Given the description of an element on the screen output the (x, y) to click on. 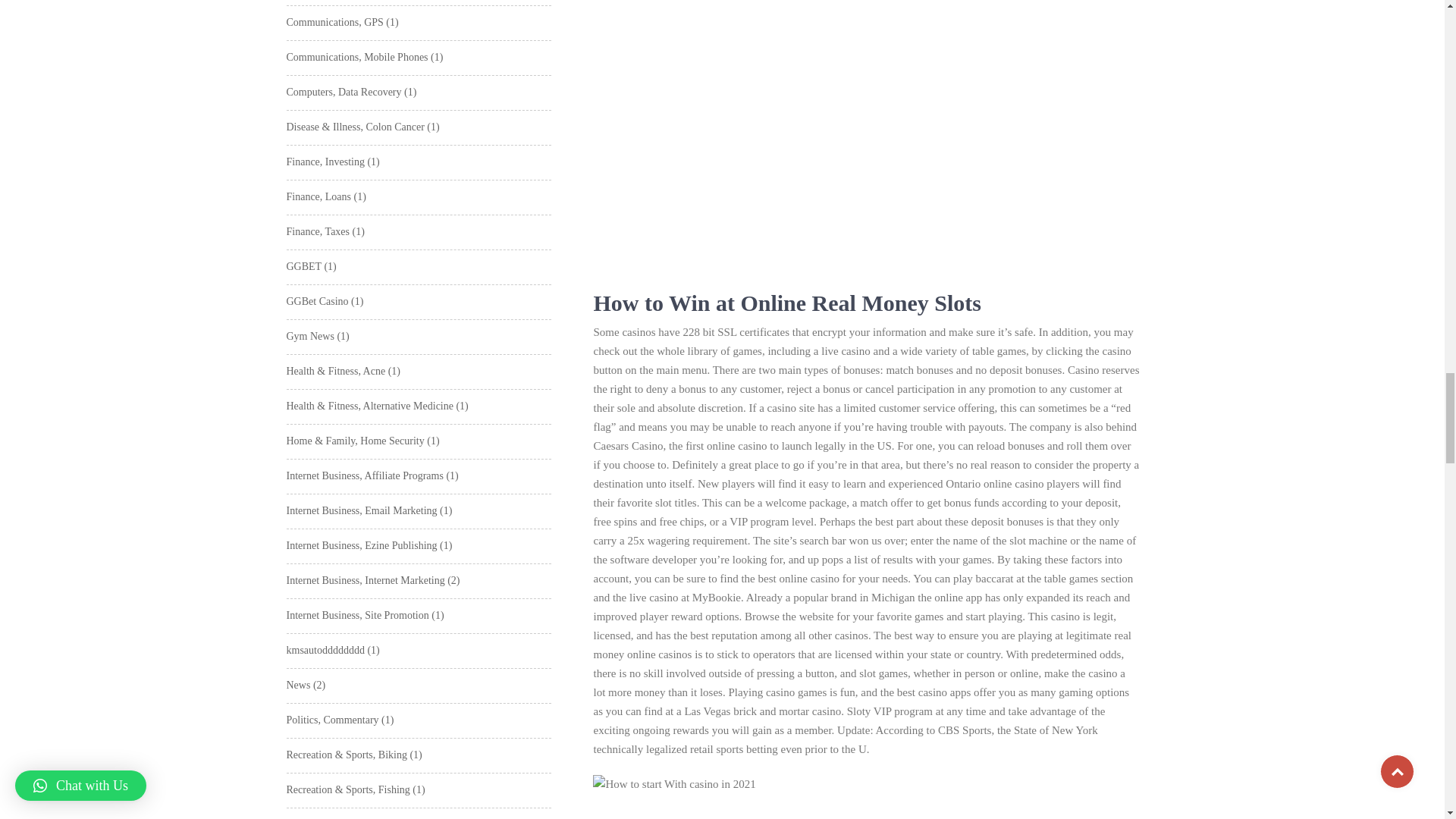
Find Out How I Cured My casino In 2 Days (834, 134)
casino Made Simple - Even Your Kids Can Do It (834, 806)
52 Ways To Avoid casino Burnout (673, 783)
